Given the description of an element on the screen output the (x, y) to click on. 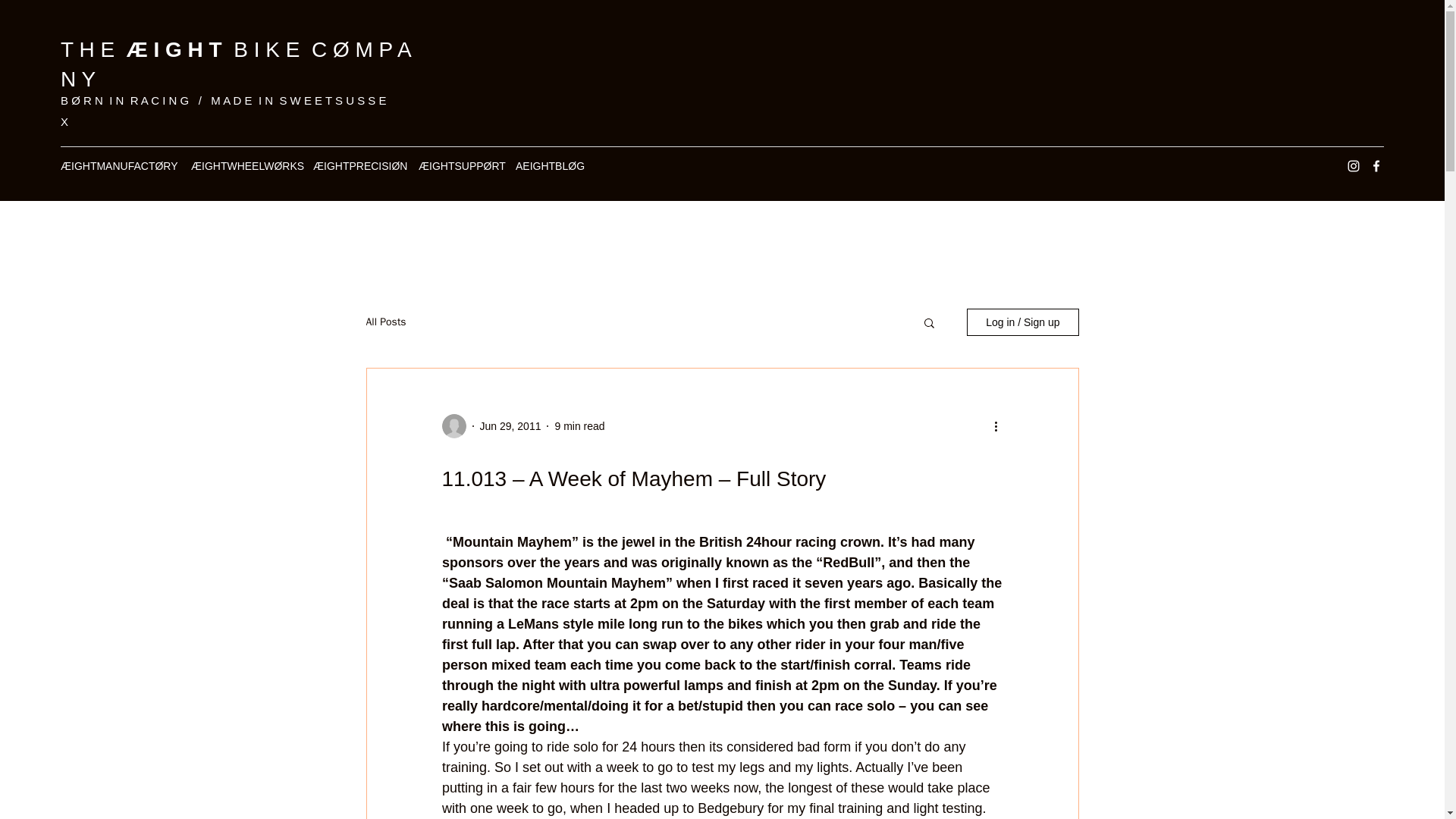
Jun 29, 2011 (509, 426)
All Posts (385, 322)
9 min read (579, 426)
